Given the description of an element on the screen output the (x, y) to click on. 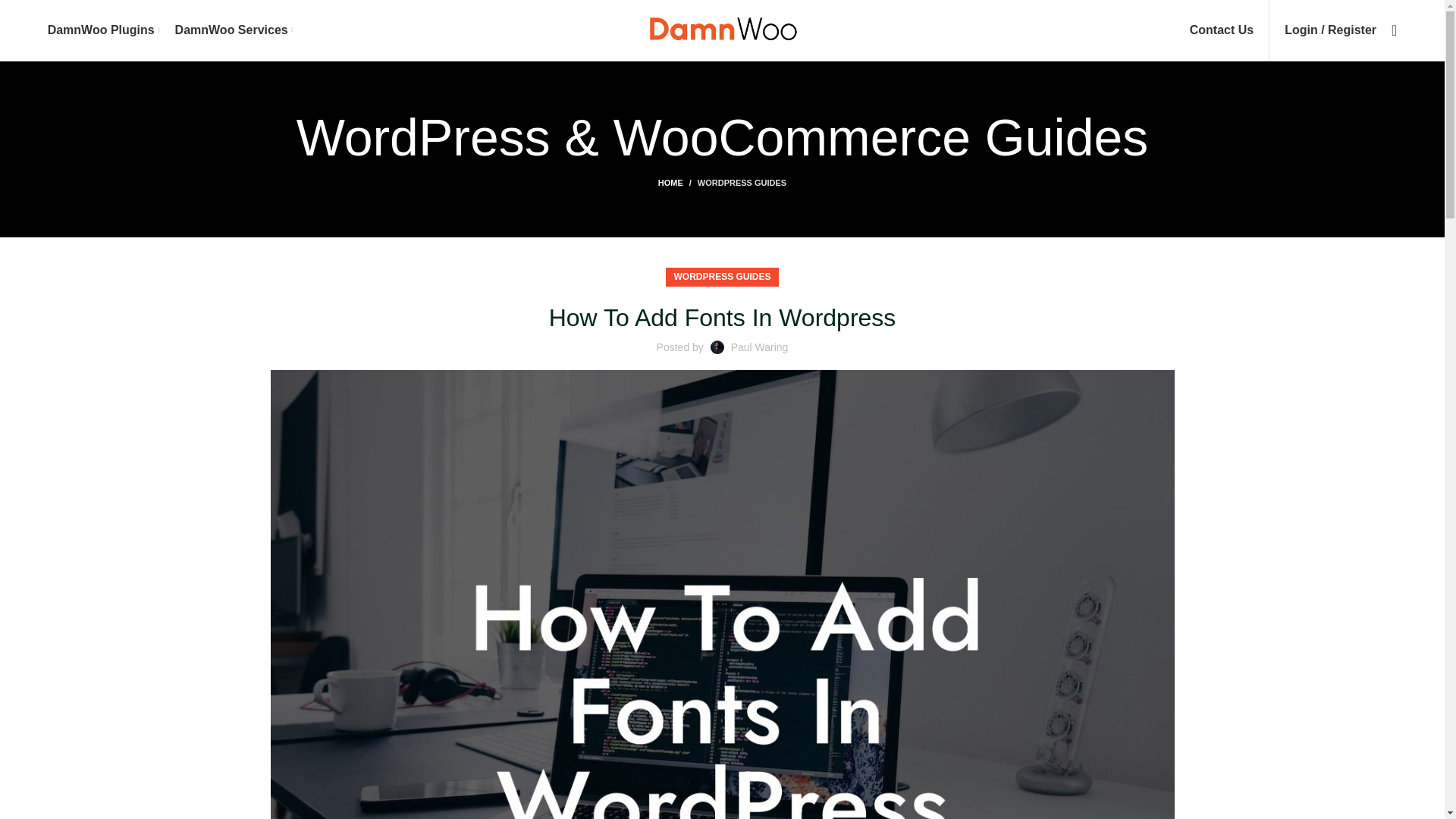
My account (1330, 30)
WORDPRESS GUIDES (741, 182)
Paul Waring (759, 346)
HOME (677, 182)
DamnWoo Plugins (104, 30)
Contact Us (1221, 30)
DamnWoo Services (234, 30)
WORDPRESS GUIDES (721, 276)
